Given the description of an element on the screen output the (x, y) to click on. 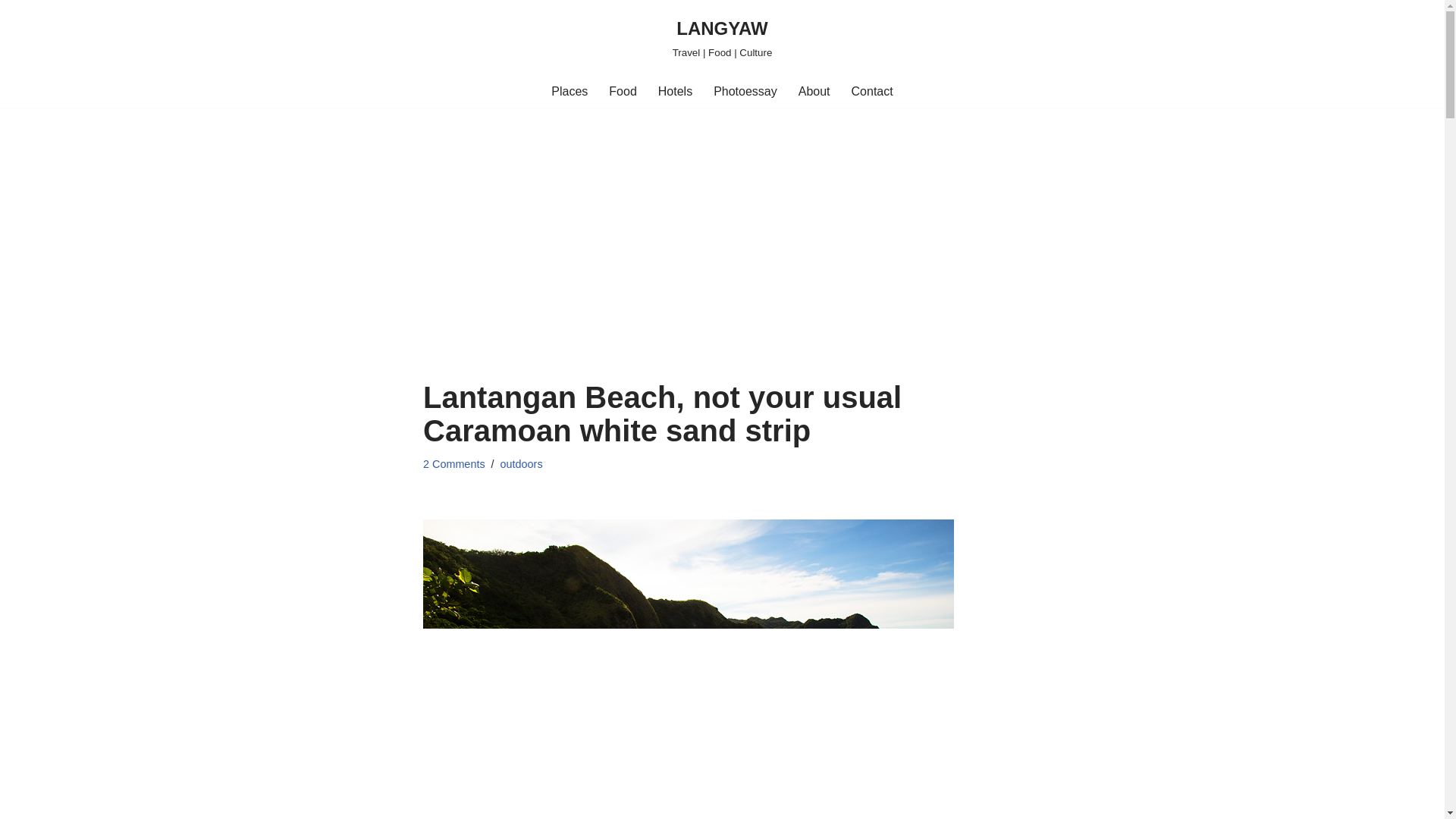
Places (569, 91)
Photoessay (745, 91)
Contact (872, 91)
outdoors (521, 463)
About (813, 91)
Skip to content (11, 31)
Food (622, 91)
Hotels (675, 91)
2 Comments (453, 463)
